Given the description of an element on the screen output the (x, y) to click on. 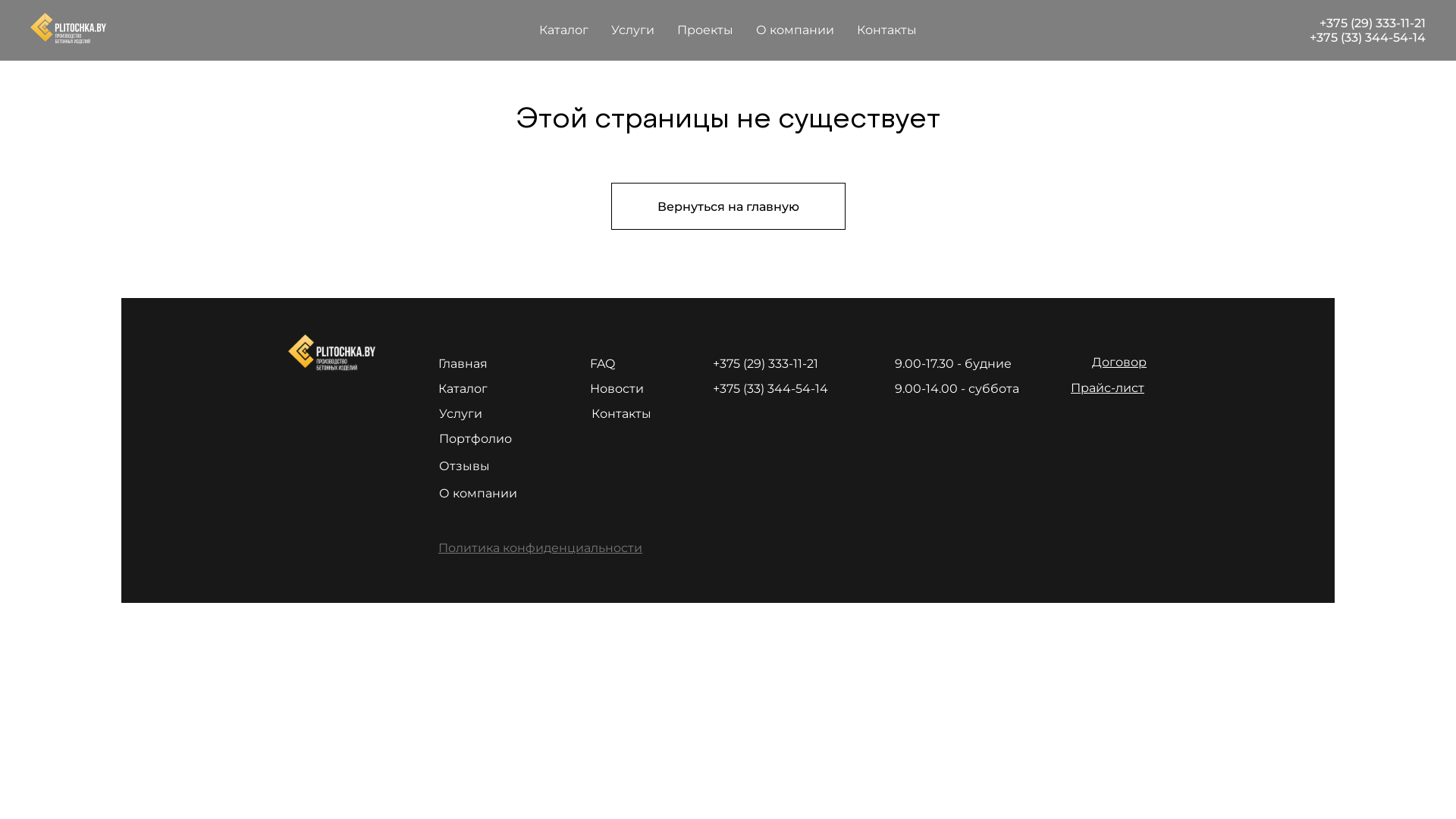
+375 (29) 333-11-21 Element type: text (1372, 22)
FAQ Element type: text (602, 363)
+375 (33) 344-54-14 Element type: text (770, 388)
+375 (33) 344-54-14 Element type: text (1367, 37)
+375 (29) 333-11-21 Element type: text (765, 363)
